Given the description of an element on the screen output the (x, y) to click on. 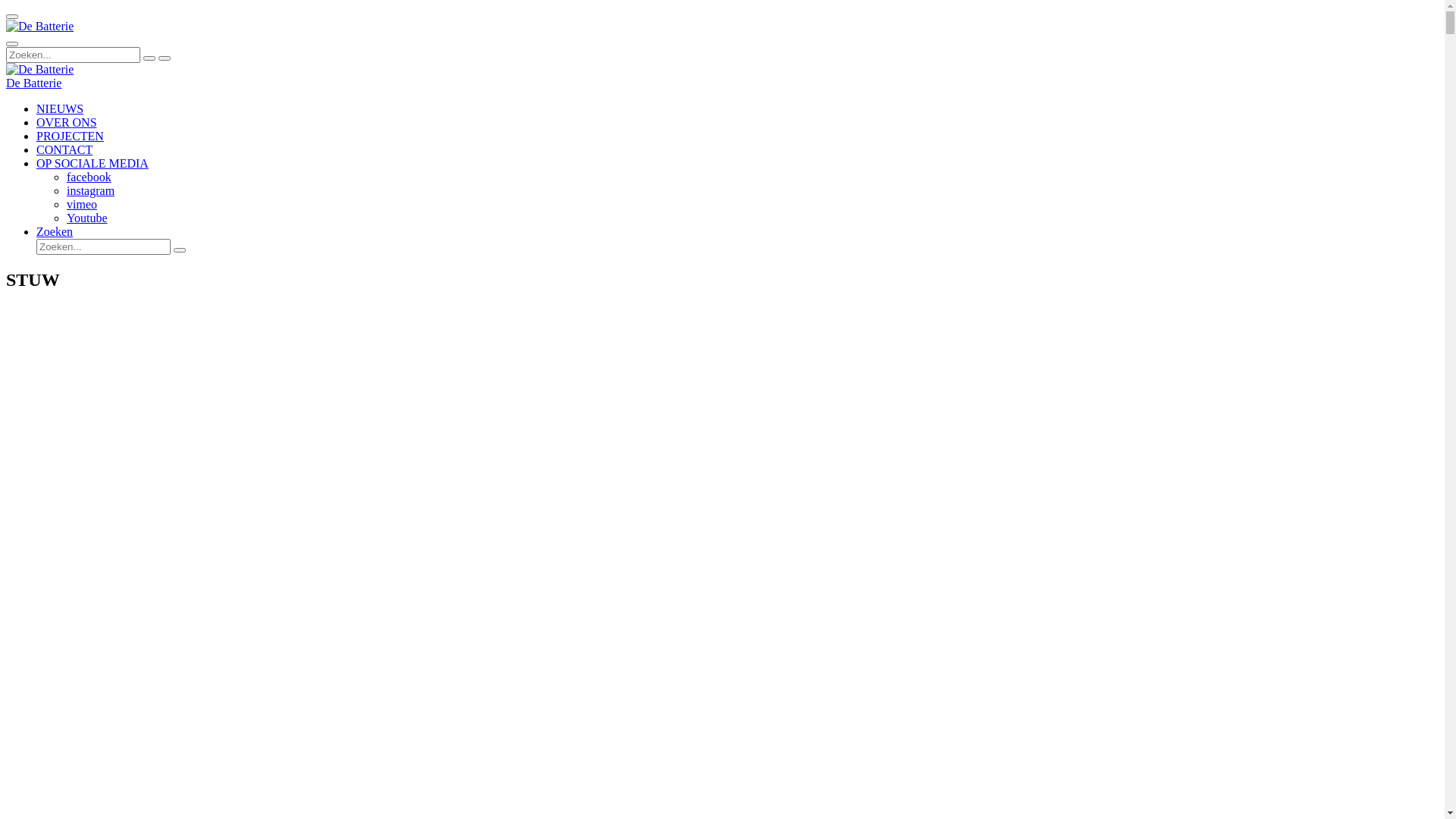
De Batterie Element type: text (33, 82)
facebook Element type: text (88, 176)
PROJECTEN Element type: text (69, 135)
CONTACT Element type: text (64, 149)
De Batterie Element type: hover (39, 26)
vimeo Element type: text (81, 203)
OVER ONS Element type: text (66, 122)
instagram Element type: text (90, 190)
Zoeken Element type: text (54, 231)
NIEUWS Element type: text (59, 108)
Youtube Element type: text (86, 217)
OP SOCIALE MEDIA Element type: text (92, 162)
De Batterie Element type: hover (39, 69)
